Given the description of an element on the screen output the (x, y) to click on. 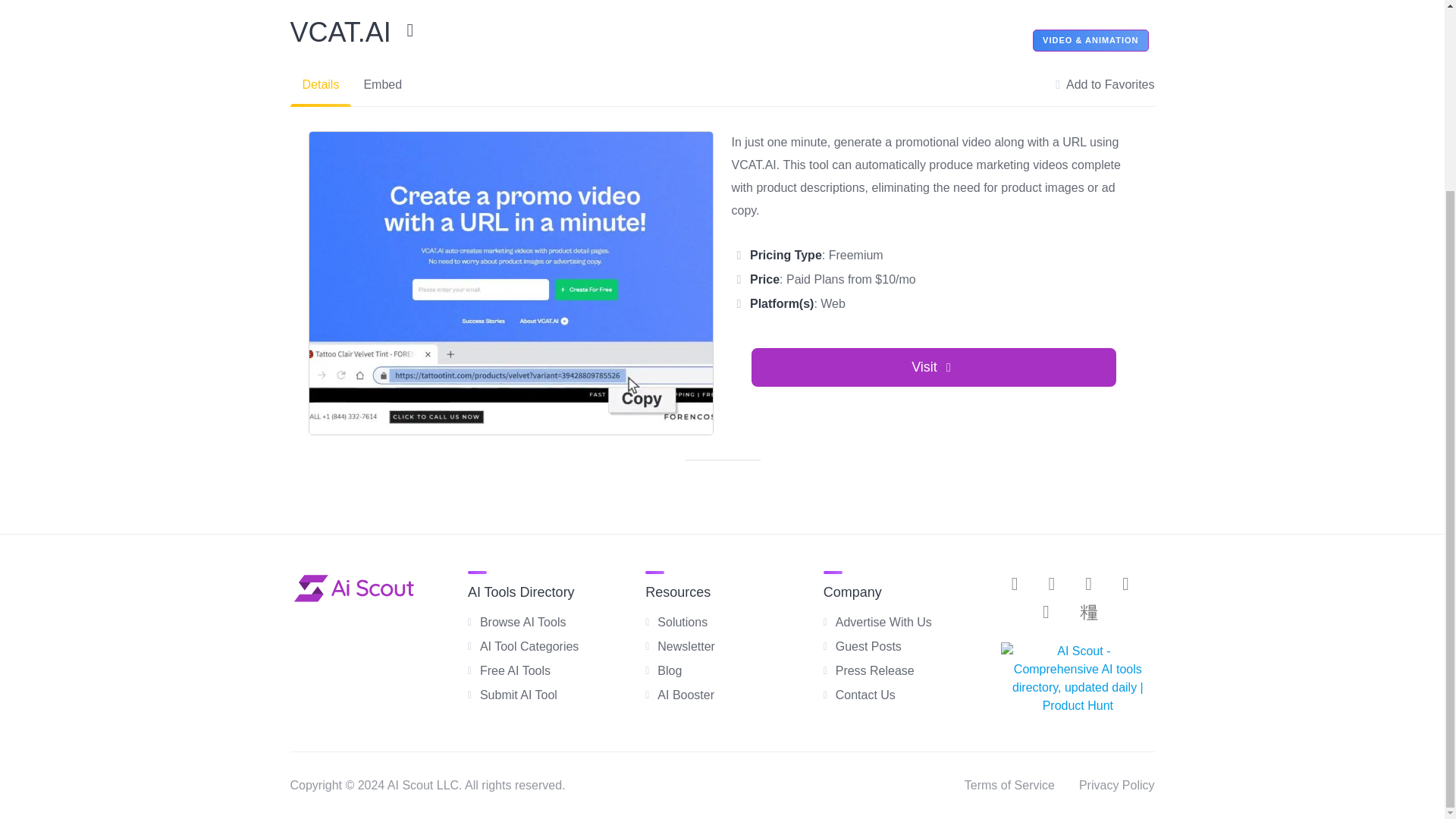
Browse AI Tools (523, 621)
Guest Posts (868, 645)
Blog (669, 670)
Add to Favorites (1104, 85)
Solutions (682, 621)
Press Release (874, 670)
Newsletter (686, 645)
Embed (381, 85)
Advertise With Us (883, 621)
Details (320, 85)
